Given the description of an element on the screen output the (x, y) to click on. 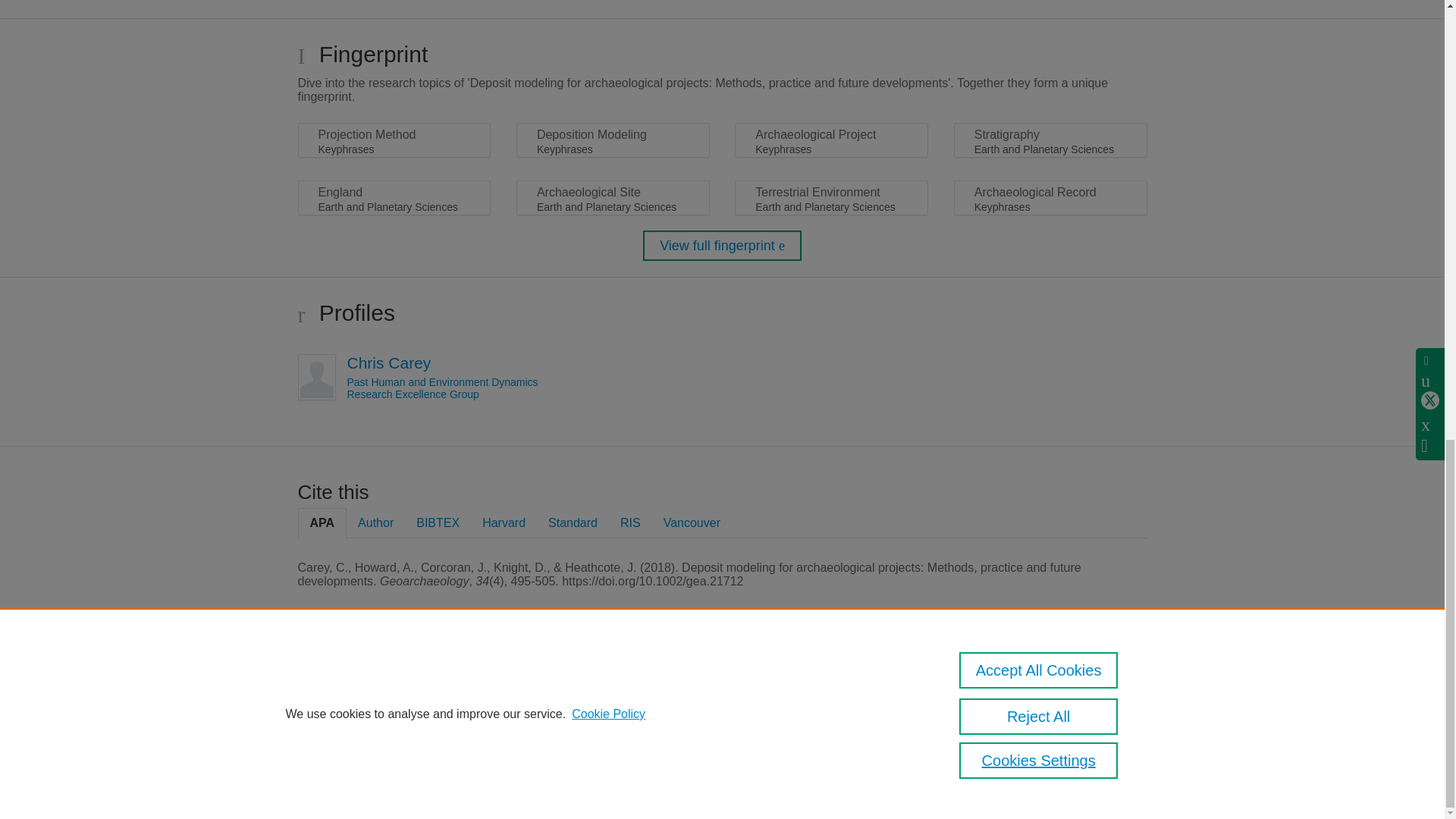
View full fingerprint (722, 245)
Pure (362, 686)
Chris Carey (388, 362)
Scopus (394, 686)
